Given the description of an element on the screen output the (x, y) to click on. 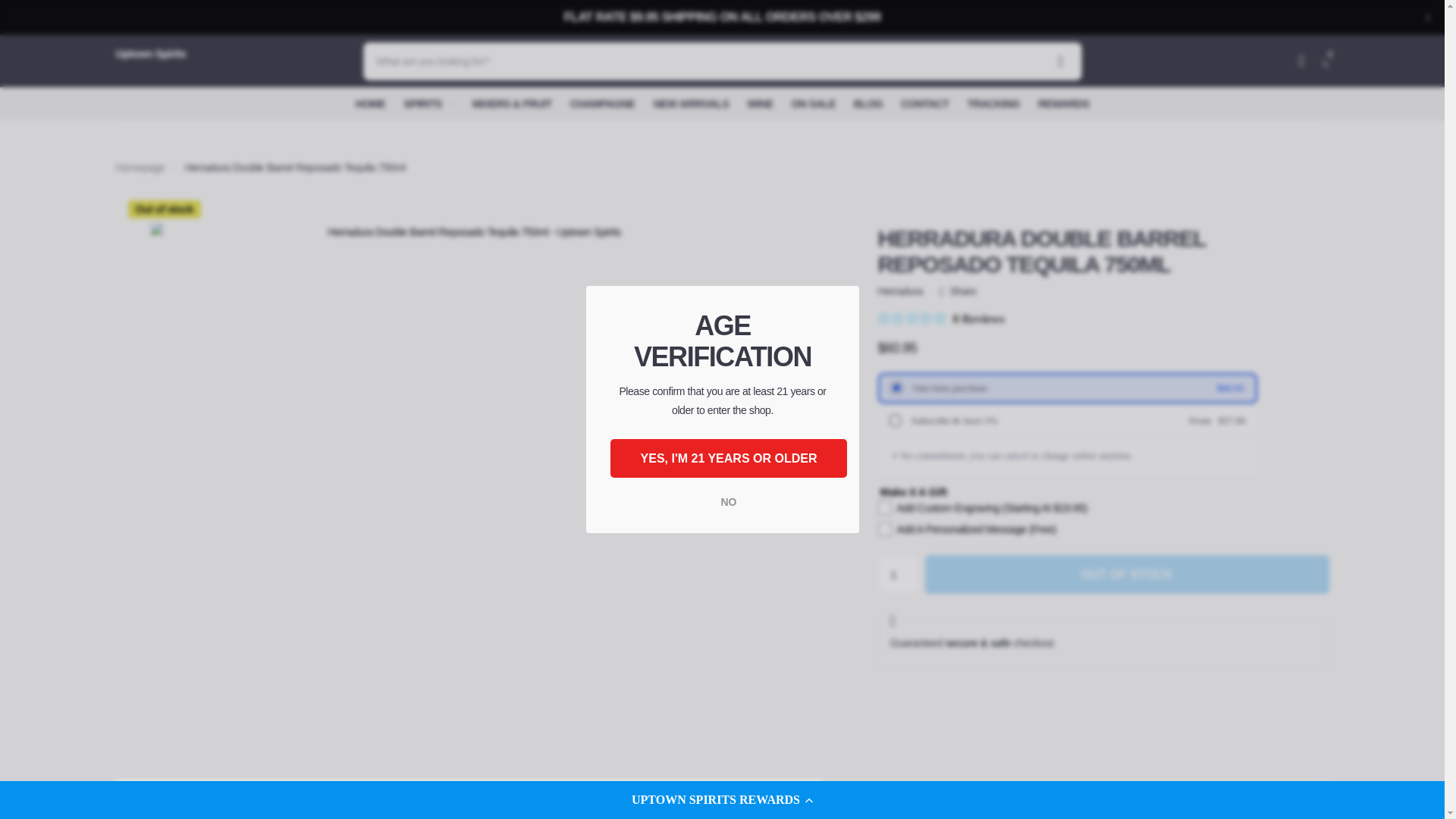
Home (139, 167)
Close (1427, 17)
SPIRITS (428, 103)
1 (897, 574)
ZOEKEN (1060, 61)
0 Reviews (940, 318)
HOME (370, 103)
689839603988 (892, 418)
